Given the description of an element on the screen output the (x, y) to click on. 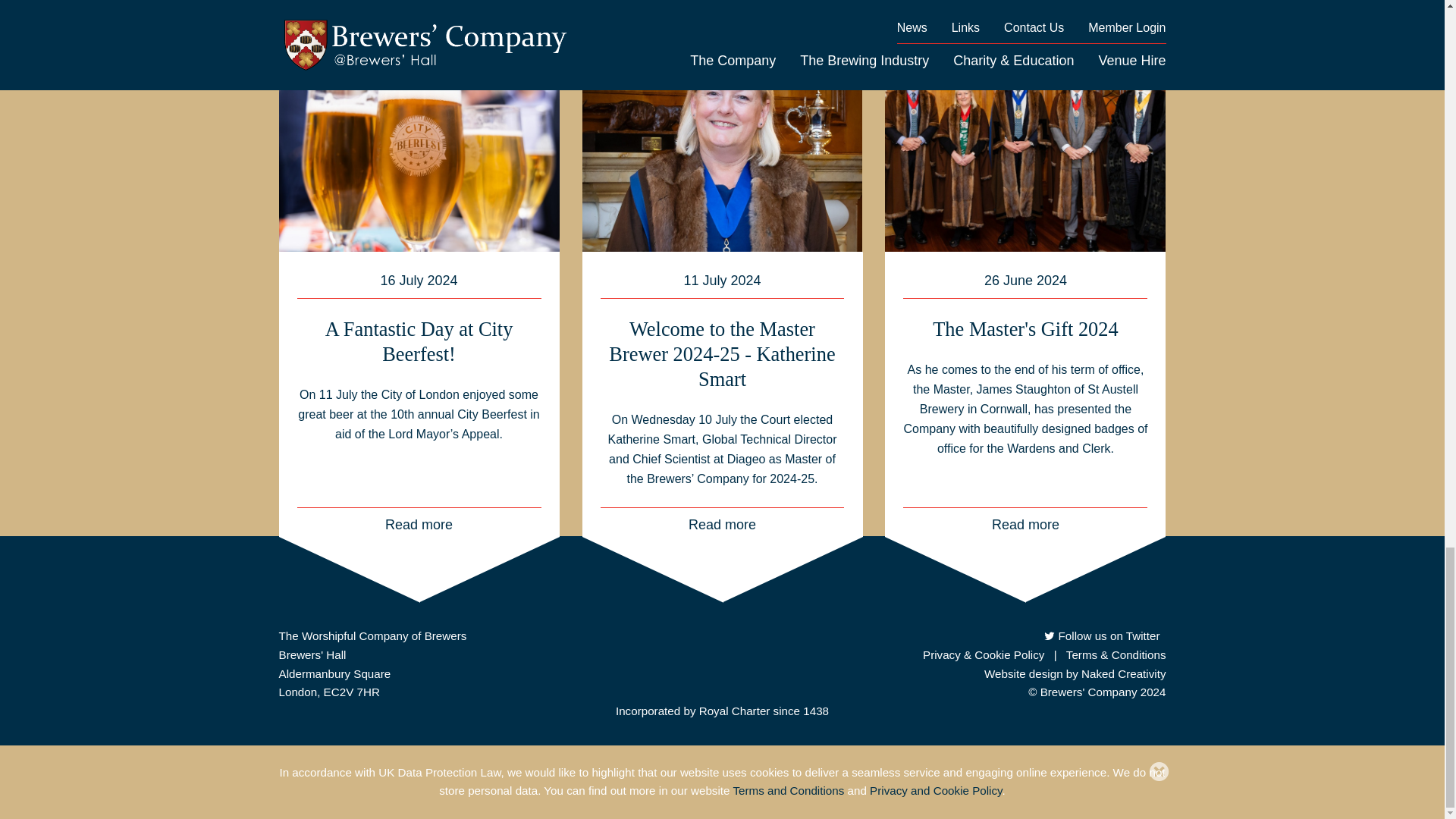
Follow us on Twitter (1100, 635)
Read more (1024, 521)
Read more (721, 521)
Read more (419, 521)
Website design by Naked Creativity (1075, 673)
Welcome to the Master Brewer 2024-25 - Katherine Smart (721, 353)
A Fantastic Day at City Beerfest! (418, 341)
The Master's Gift 2024 (1025, 328)
